Given the description of an element on the screen output the (x, y) to click on. 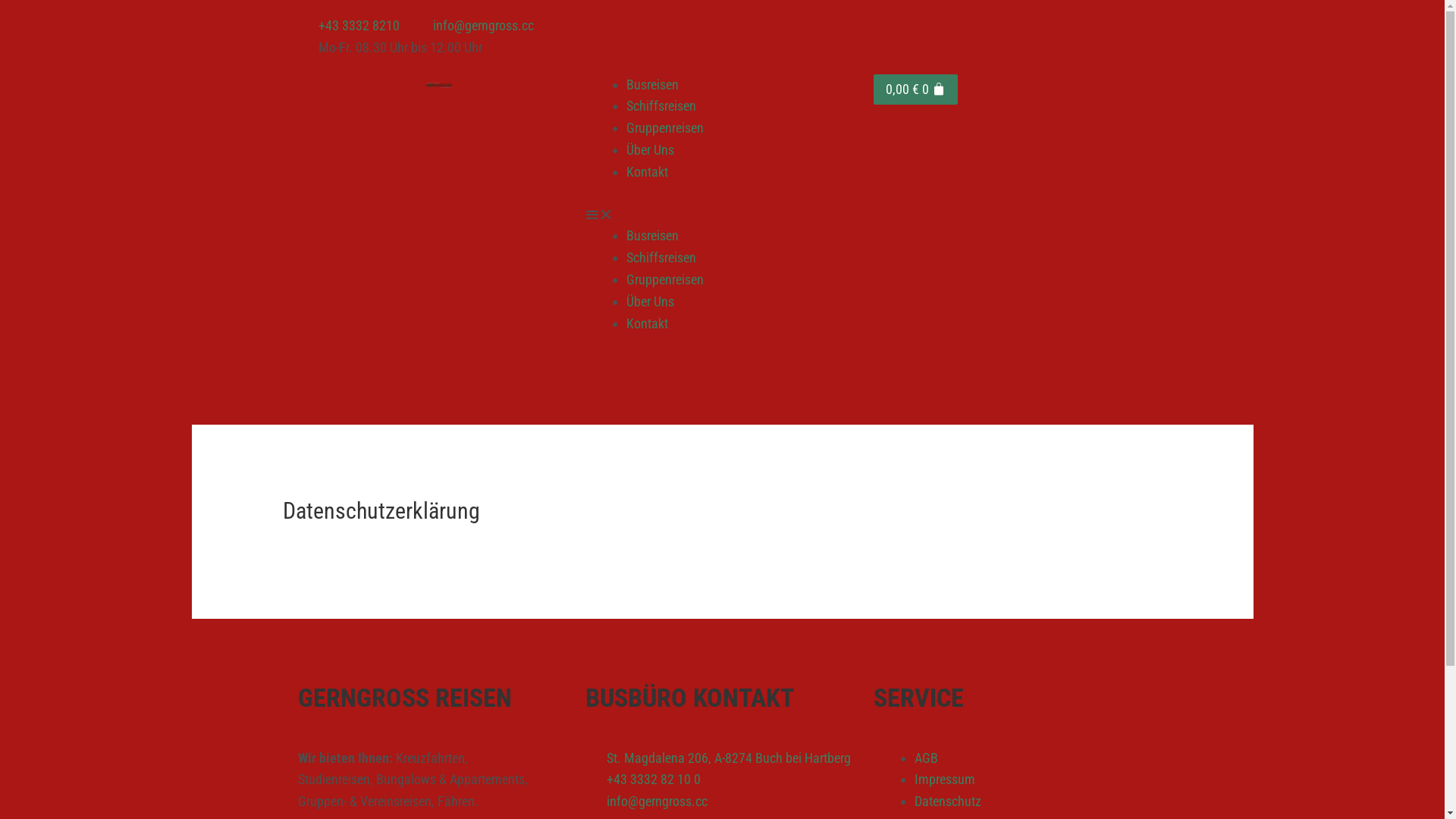
Busreisen Element type: text (652, 84)
Impressum Element type: text (944, 779)
AGB Element type: text (926, 757)
Kontakt Element type: text (647, 323)
Datenschutz Element type: text (947, 801)
info@gerngross.cc Element type: text (472, 26)
Busreisen Element type: text (652, 235)
Schiffsreisen Element type: text (661, 257)
St. Magdalena 206, A-8274 Buch bei Hartberg Element type: text (721, 758)
Gruppenreisen Element type: text (664, 127)
info@gerngross.cc Element type: text (721, 801)
+43 3332 8210 Element type: text (348, 26)
Kontakt Element type: text (647, 171)
Schiffsreisen Element type: text (661, 105)
+43 3332 82 10 0 Element type: text (721, 779)
Gruppenreisen Element type: text (664, 279)
